Given the description of an element on the screen output the (x, y) to click on. 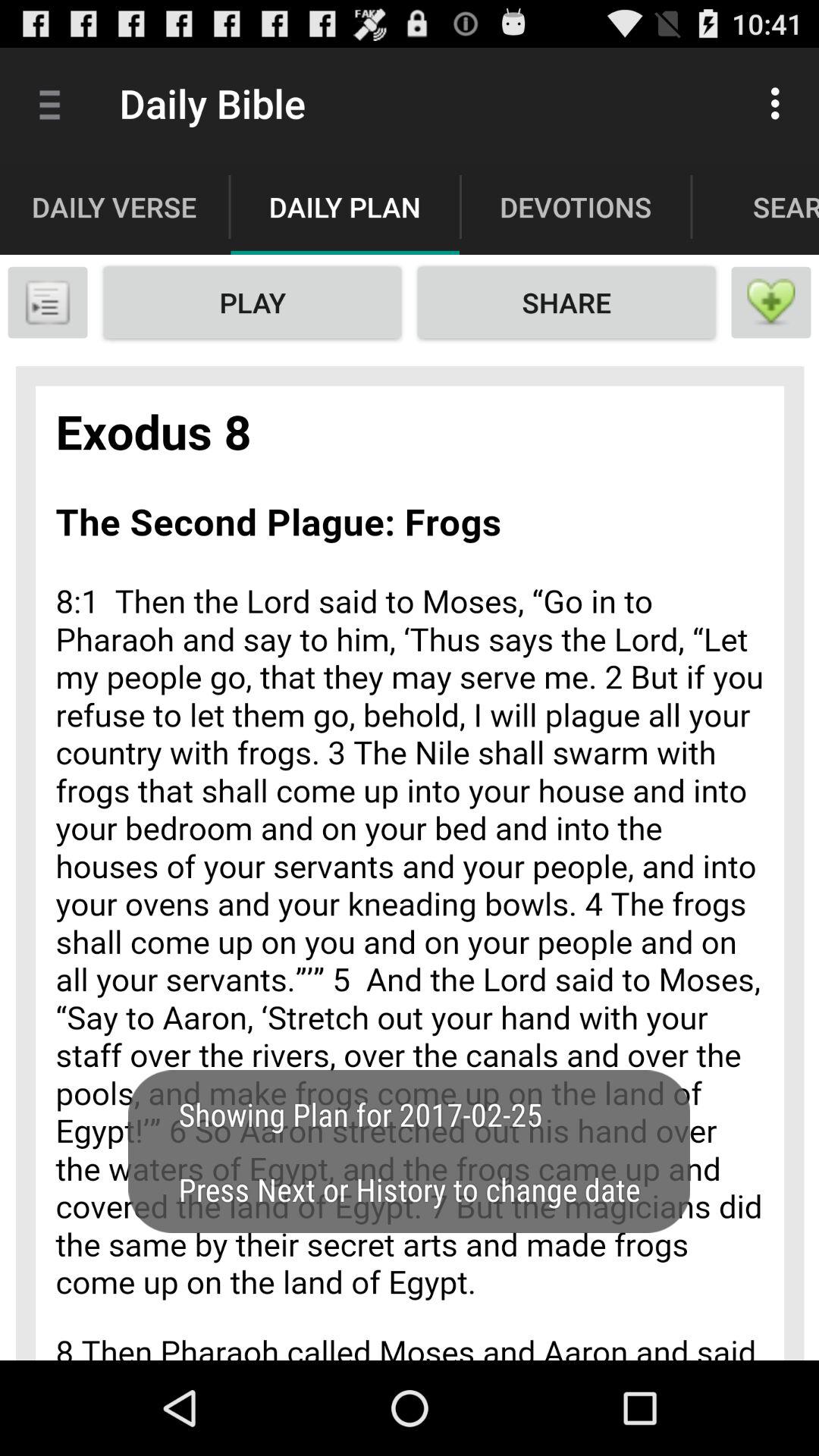
menu button (47, 302)
